Given the description of an element on the screen output the (x, y) to click on. 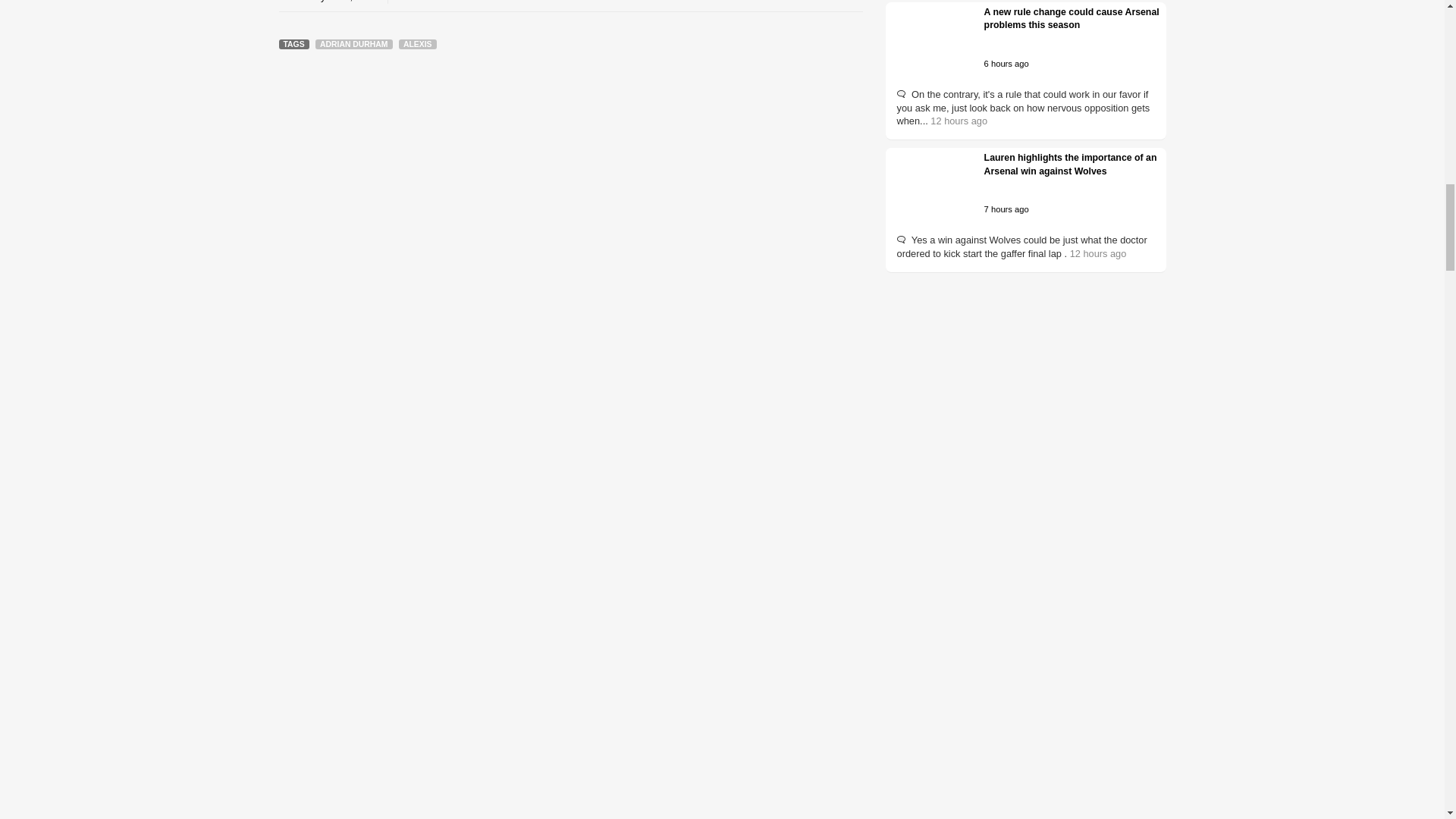
ADRIAN DURHAM (353, 44)
3 February 2015, 13:01 (329, 1)
ALEXIS (417, 44)
